Given the description of an element on the screen output the (x, y) to click on. 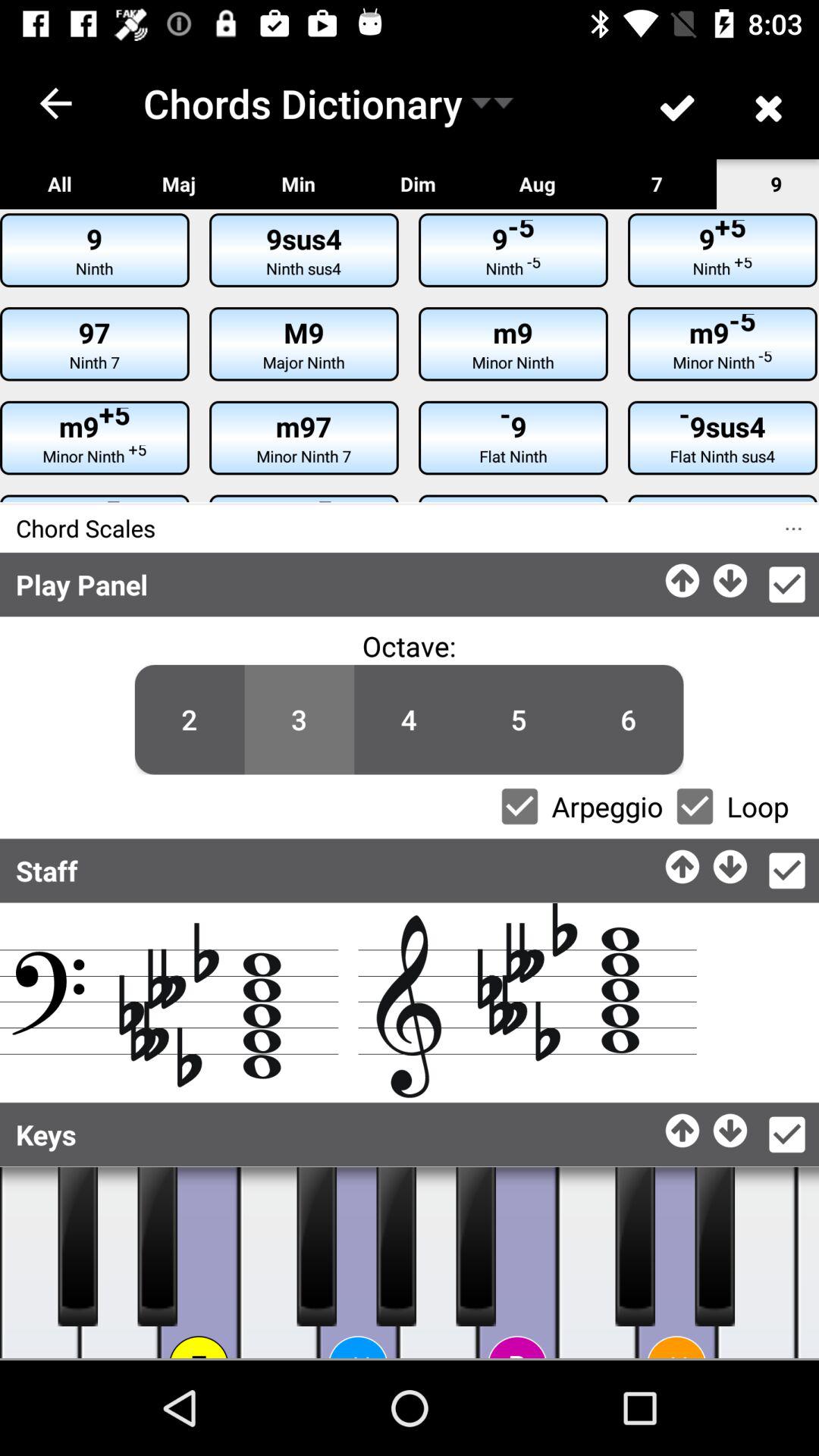
click to the download (731, 862)
